Given the description of an element on the screen output the (x, y) to click on. 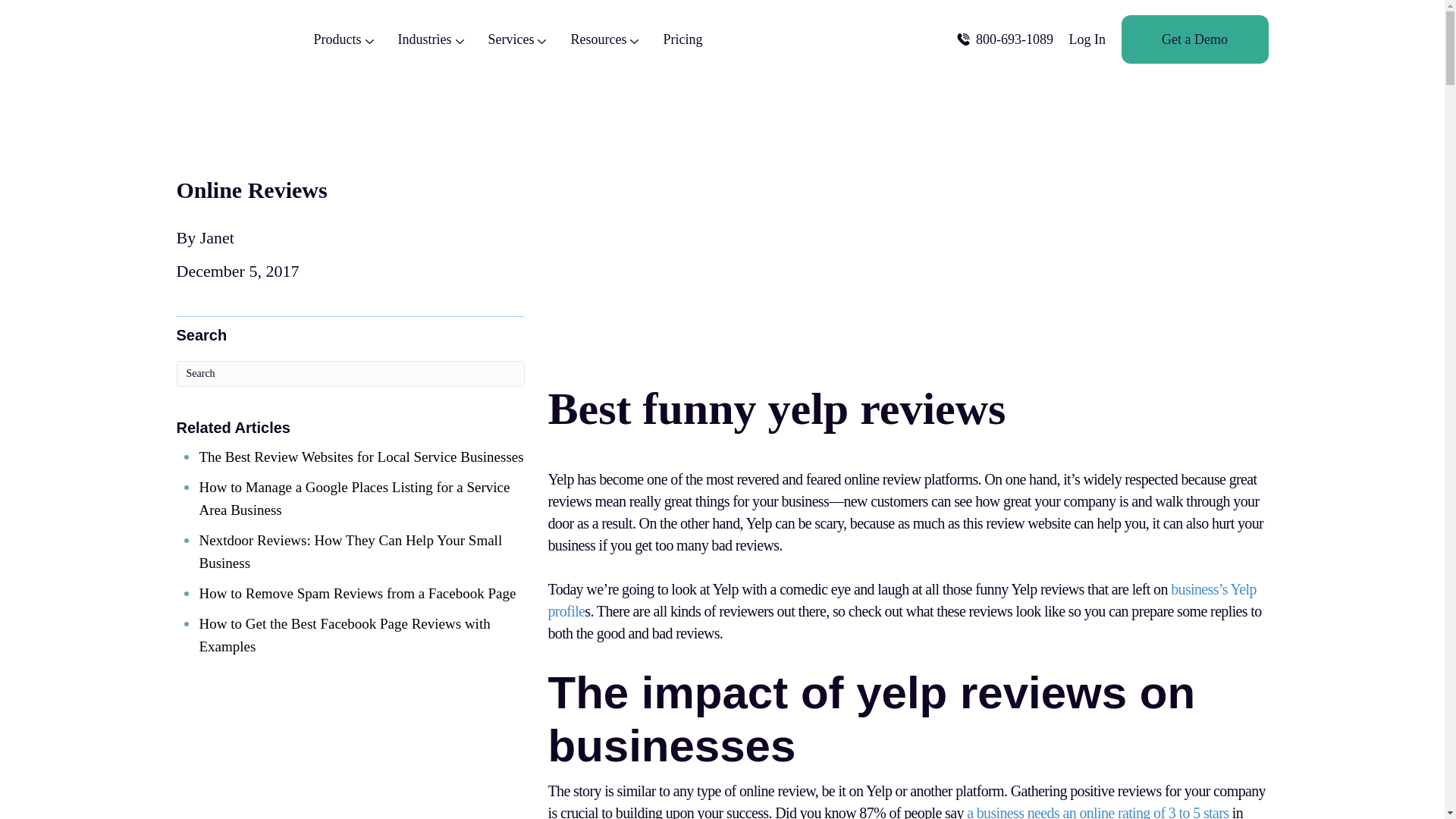
Nextdoor Reviews: How They Can Help Your Small Business (350, 551)
Search (350, 373)
Products (344, 38)
Resources (604, 38)
Get a Demo (1194, 39)
The Best Review Websites for Local Service Businesses (360, 456)
Log In (1087, 39)
Type and press Enter to search. (350, 373)
How to Get the Best Facebook Page Reviews with Examples (343, 634)
Search (350, 373)
Industries (430, 38)
800-693-1089 (1004, 39)
Services (517, 38)
How to Remove Spam Reviews from a Facebook Page (356, 593)
